Given the description of an element on the screen output the (x, y) to click on. 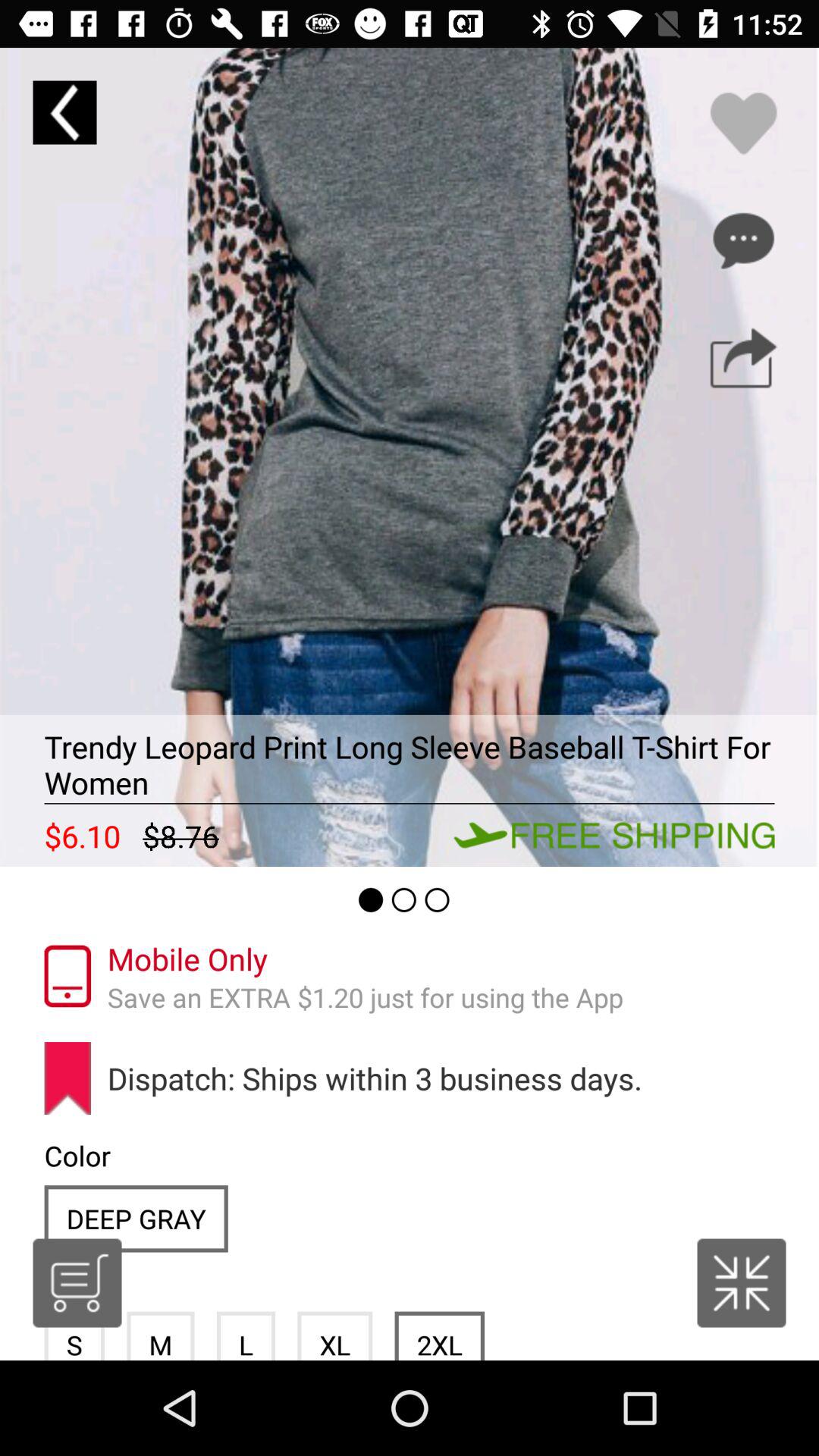
turn on item to the right of the l (334, 1335)
